Given the description of an element on the screen output the (x, y) to click on. 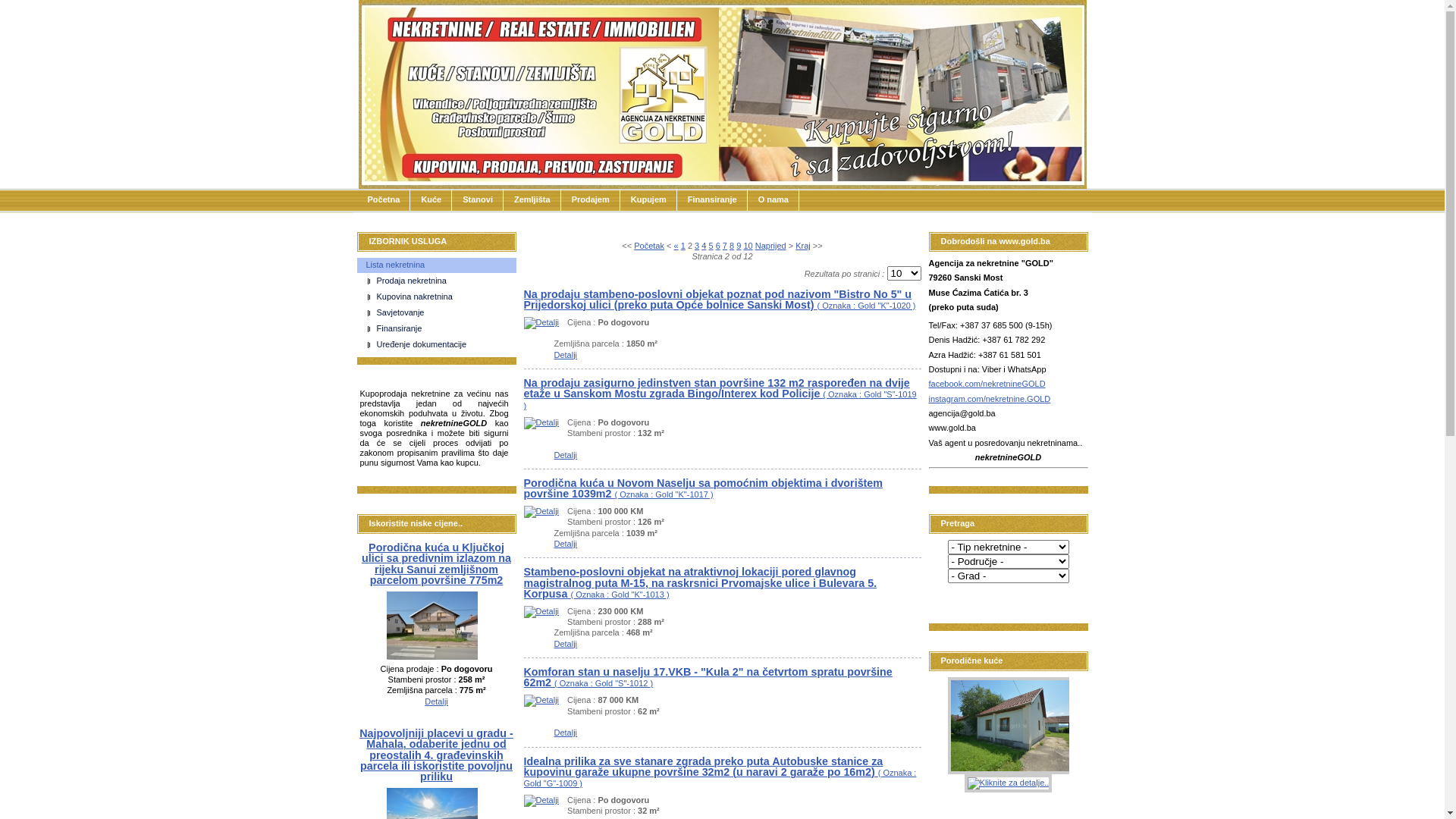
4 Element type: text (703, 245)
Detalji Element type: hover (540, 610)
9 Element type: text (738, 245)
Detalji Element type: text (436, 701)
Detalji Element type: text (565, 354)
Pretraga Element type: text (967, 598)
Detalji Element type: hover (431, 656)
Detalji Element type: hover (540, 421)
Prodajem Element type: text (590, 199)
facebook.com/nekretnineGOLD Element type: text (986, 383)
5 Element type: text (710, 245)
Kliknite za detalje.. Element type: hover (1011, 628)
Lista nekretnina Element type: text (435, 265)
Detalji Element type: text (565, 732)
3 Element type: text (696, 245)
Detalji Element type: hover (540, 510)
1 Element type: text (682, 245)
instagram.com/nekretnine.GOLD Element type: text (989, 398)
Prodaja nekretnina Element type: text (441, 280)
Detalji Element type: hover (540, 799)
Detalji Element type: text (565, 543)
Kupujem Element type: text (648, 199)
Kraj Element type: text (802, 245)
O nama Element type: text (773, 199)
8 Element type: text (731, 245)
Finansiranje Element type: text (712, 199)
Kliknite za detalje.. Element type: hover (1008, 783)
Detalji Element type: text (565, 643)
Kupovina nakretnina Element type: text (441, 296)
Finansiranje Element type: text (441, 328)
Kliknite za detalje.. Element type: hover (1011, 725)
Naprijed Element type: text (770, 245)
7 Element type: text (724, 245)
Stanovi Element type: text (477, 199)
Detalji Element type: hover (540, 699)
10 Element type: text (747, 245)
Savjetovanje Element type: text (441, 312)
Detalji Element type: hover (540, 321)
Detalji Element type: text (565, 454)
6 Element type: text (717, 245)
